Given the description of an element on the screen output the (x, y) to click on. 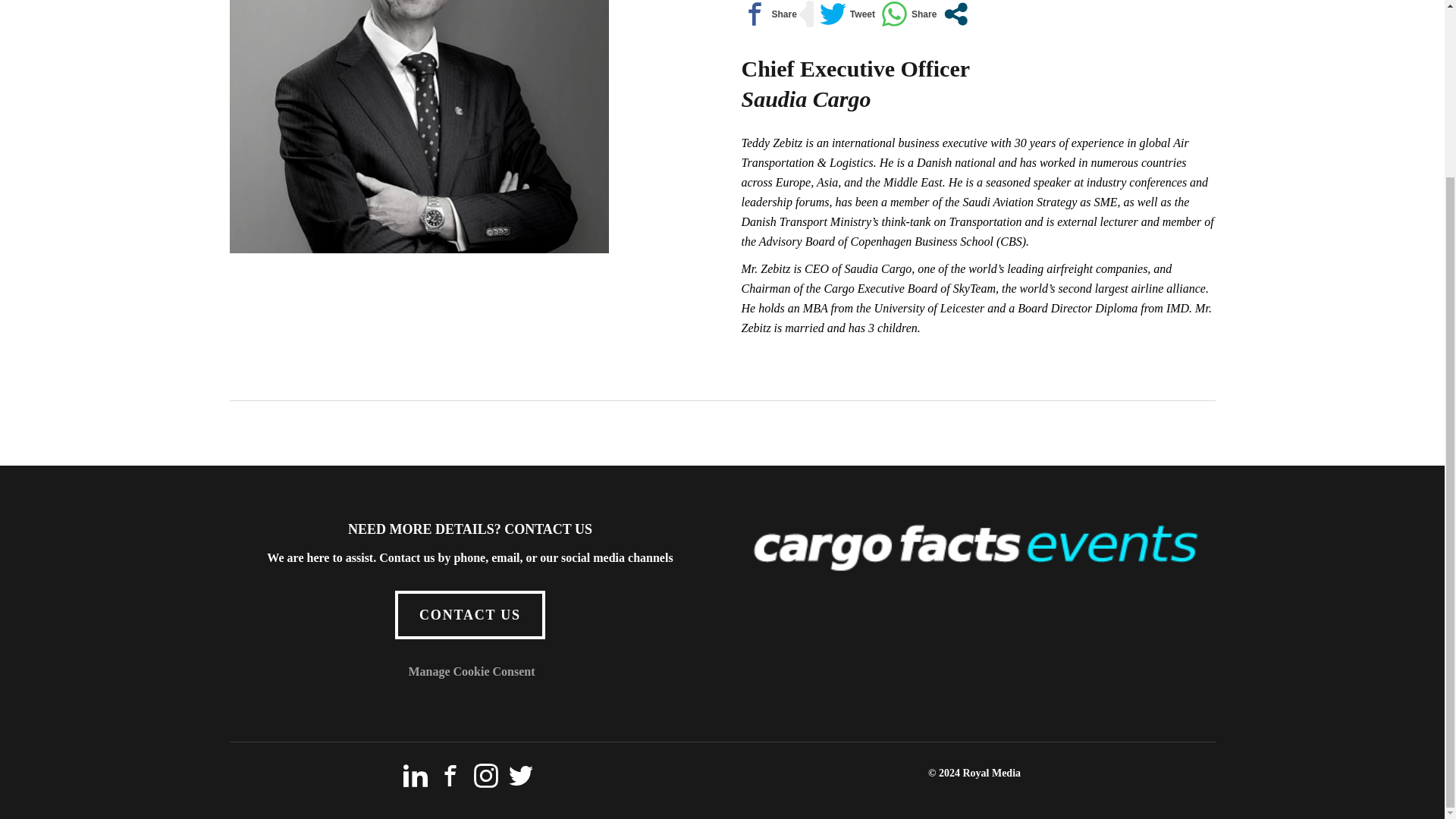
Share on WhatsApp (908, 13)
Share on Facebook (768, 13)
Open modal social networks (955, 13)
Tweet (847, 13)
